Given the description of an element on the screen output the (x, y) to click on. 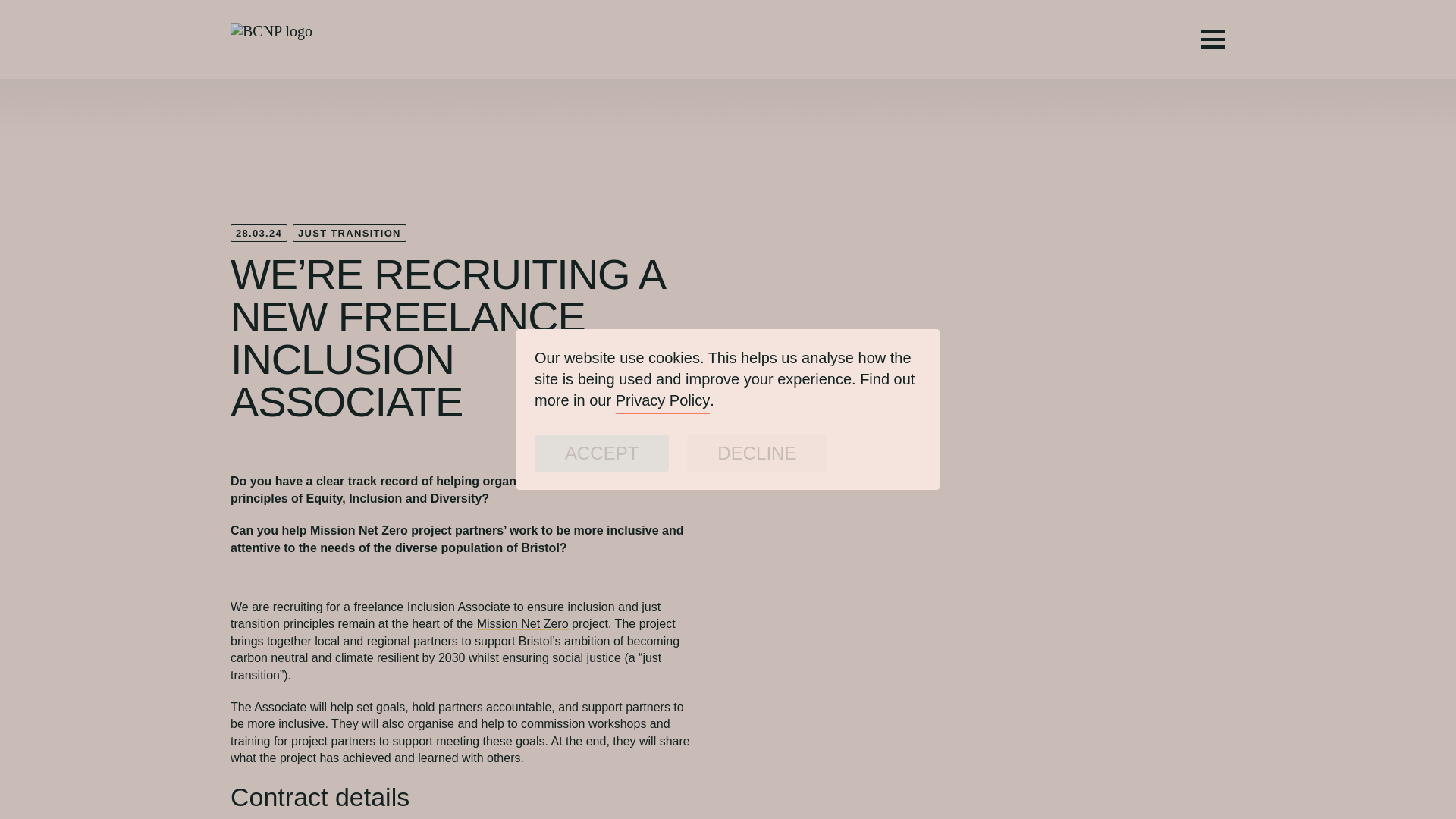
Privacy Policy (662, 400)
ACCEPT (601, 452)
Mission Net Zero (523, 623)
DECLINE (757, 452)
